Given the description of an element on the screen output the (x, y) to click on. 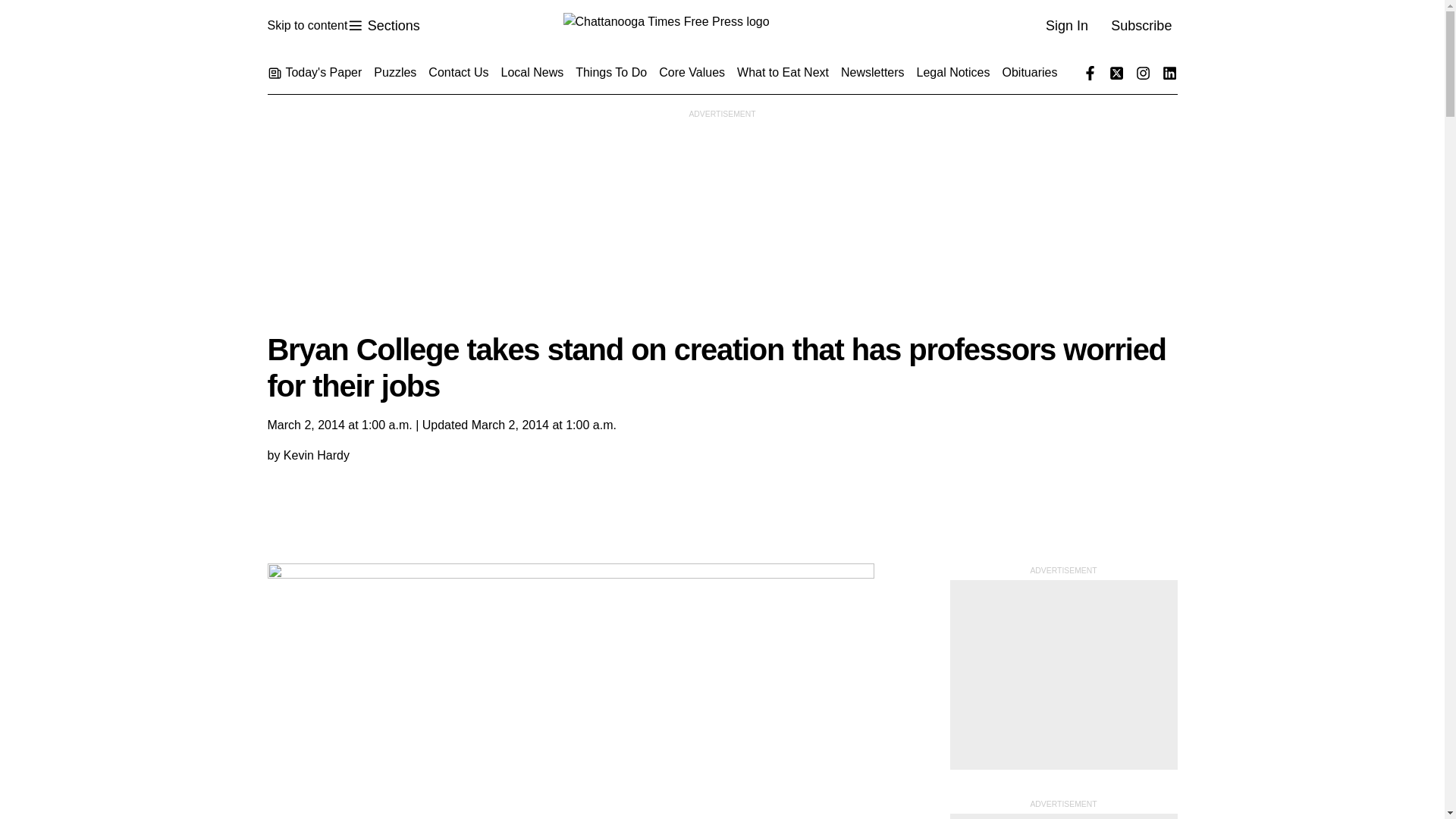
Skip to content (383, 25)
Times Free Press (306, 25)
